Given the description of an element on the screen output the (x, y) to click on. 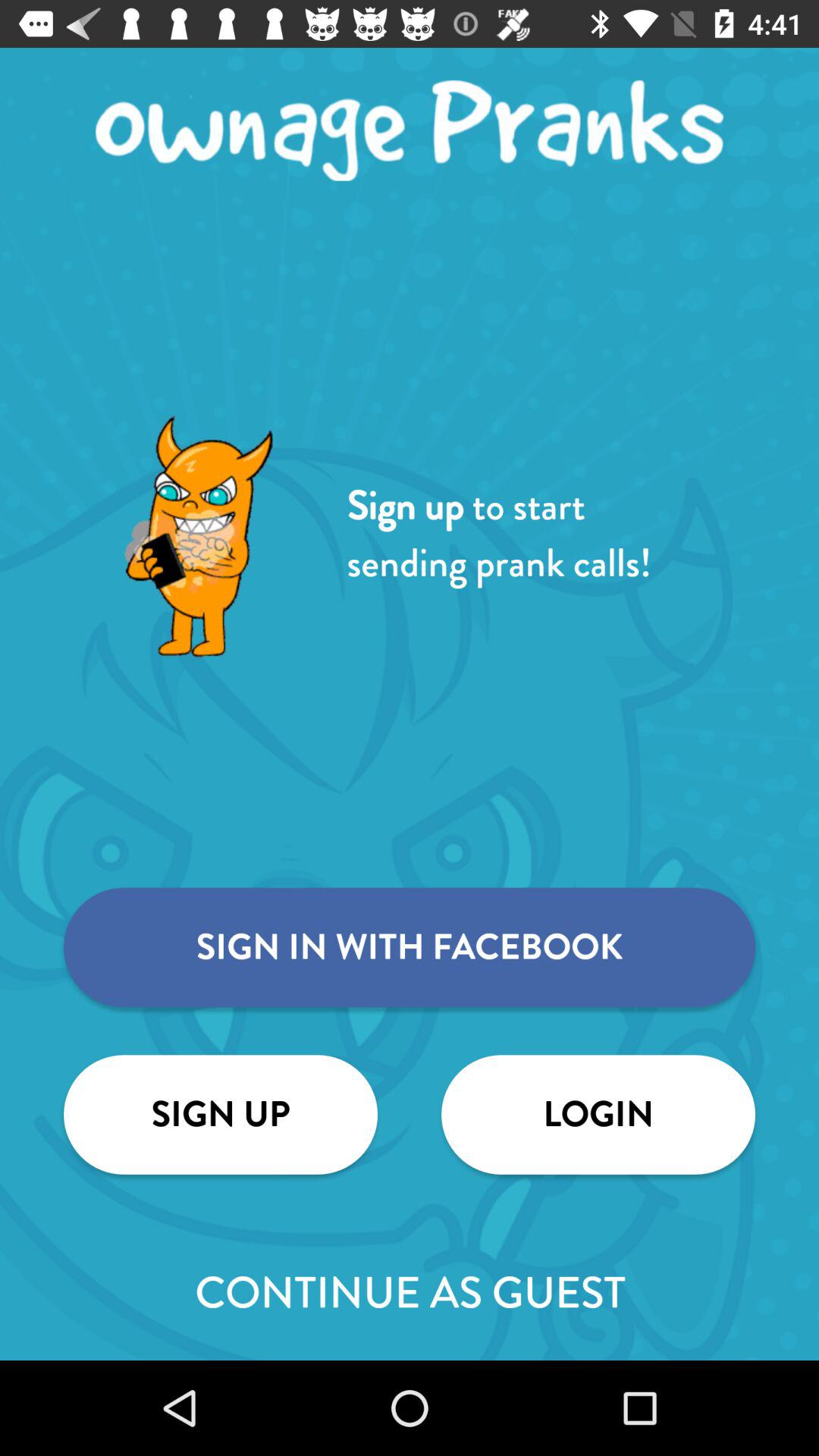
open the icon below the sign in with icon (598, 1114)
